Given the description of an element on the screen output the (x, y) to click on. 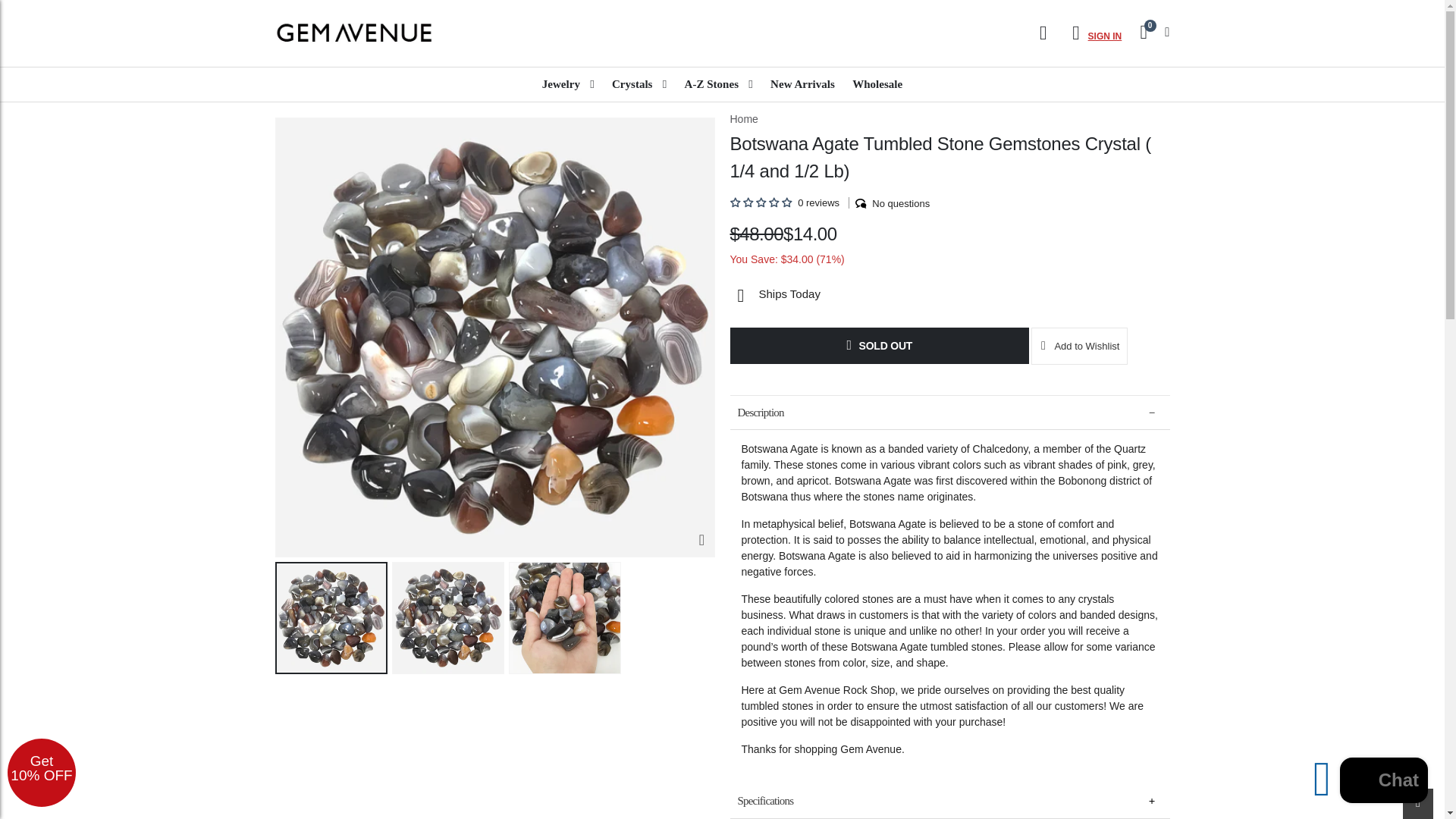
SIGN IN (1092, 32)
Shopify online store chat (1383, 781)
Jewelry (568, 83)
0 (1151, 31)
Add to wishlist (1078, 345)
